Given the description of an element on the screen output the (x, y) to click on. 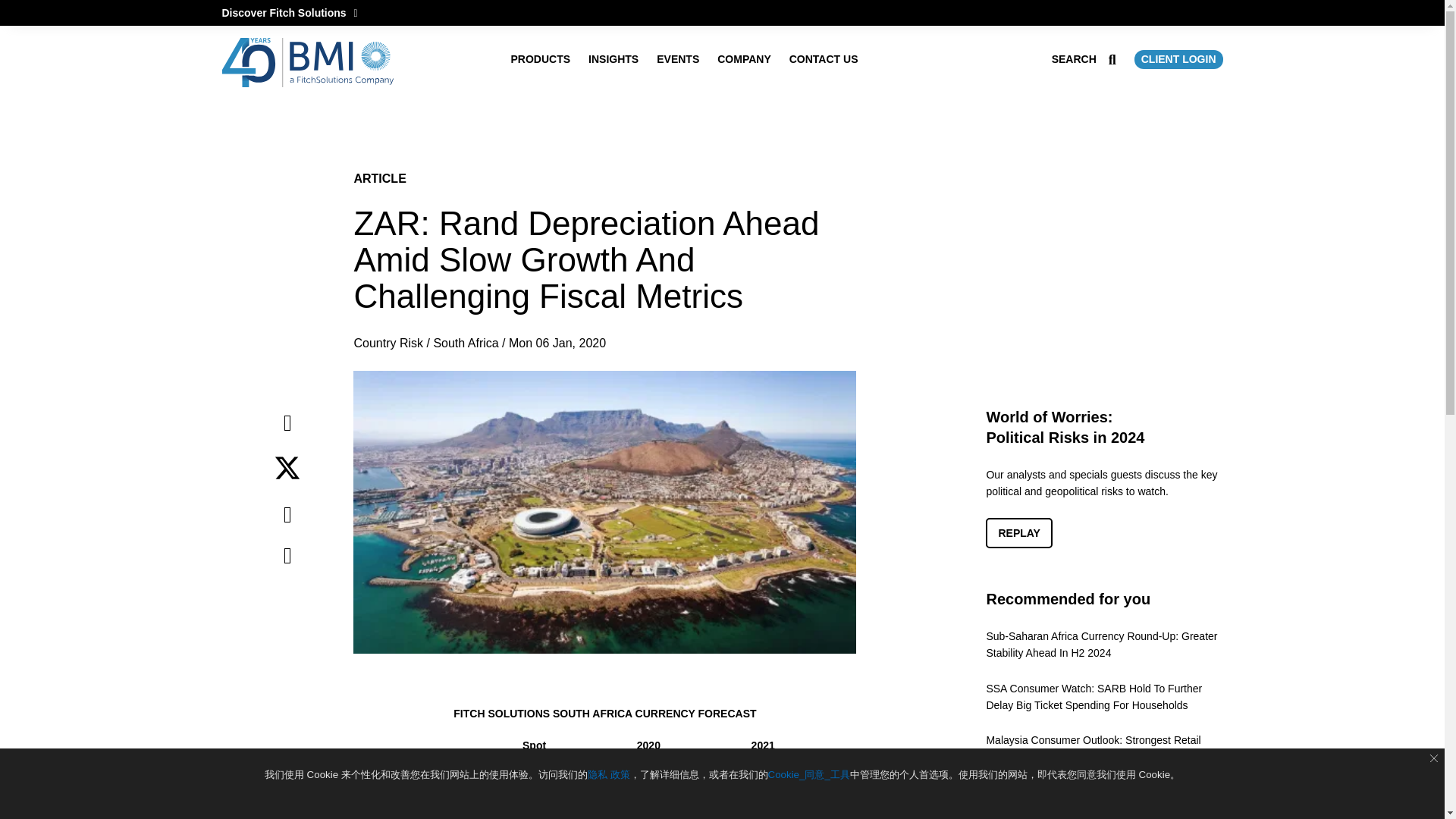
Country Risk (388, 342)
ARTICLE (379, 178)
CONTACT US (824, 59)
REPLAY (1018, 532)
South Africa (464, 342)
EVENTS (677, 59)
SEARCH (1083, 59)
